Given the description of an element on the screen output the (x, y) to click on. 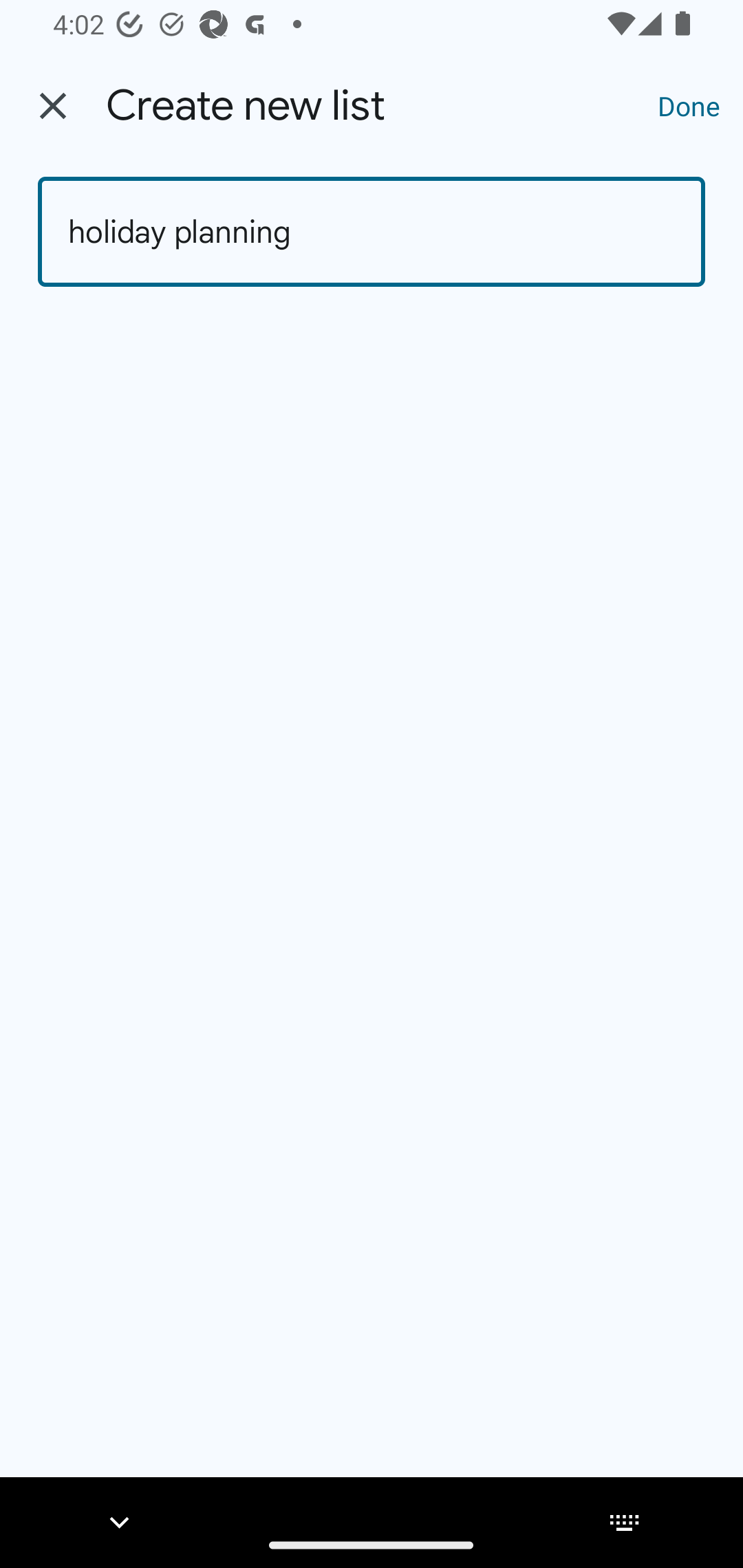
Back (53, 105)
Done (689, 105)
holiday planning (371, 231)
